Given the description of an element on the screen output the (x, y) to click on. 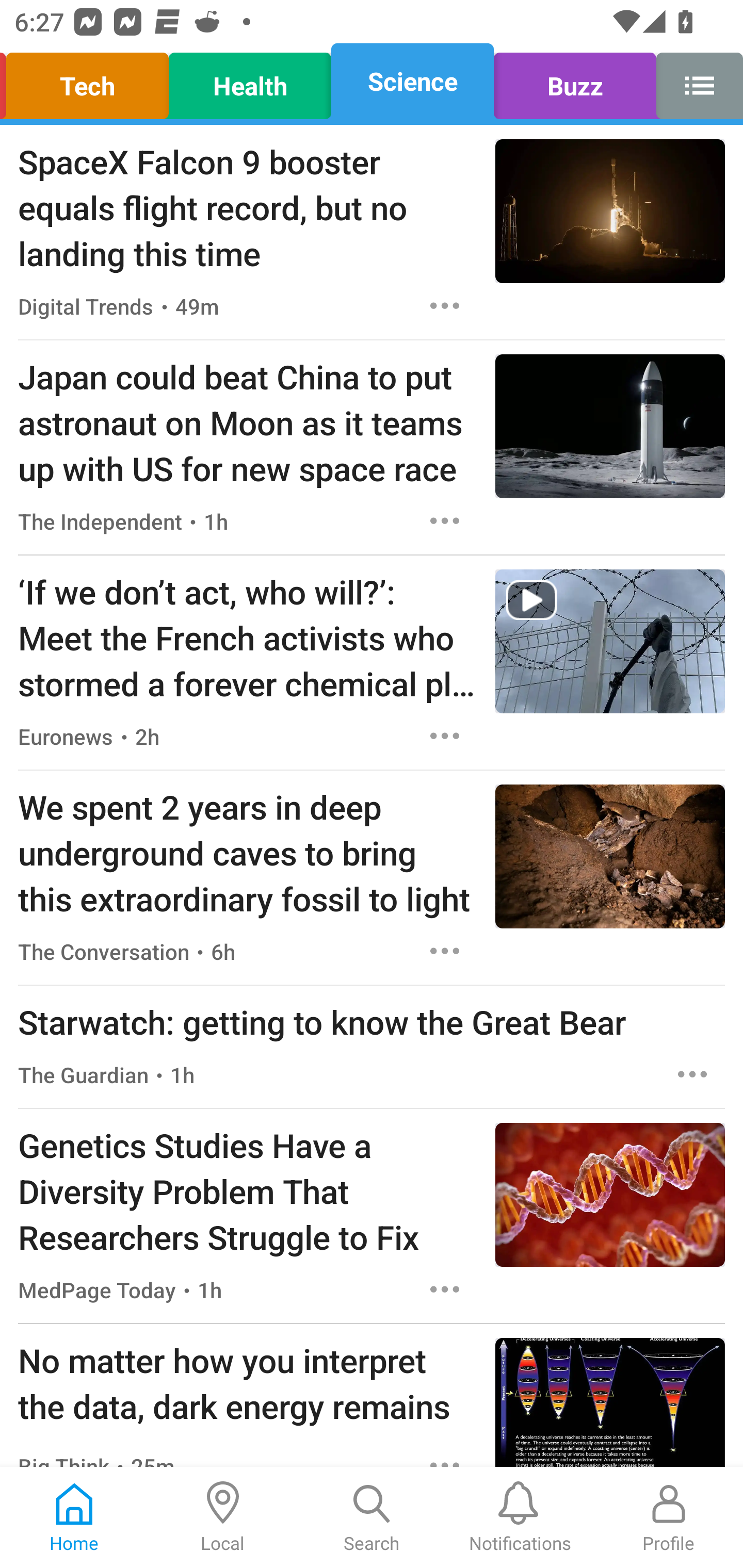
Tech (89, 81)
Health (249, 81)
Science (412, 81)
Buzz (574, 81)
 (694, 81)
Options (444, 305)
Options (444, 520)
Options (444, 736)
Options (444, 950)
Options (692, 1074)
Options (444, 1289)
Local (222, 1517)
Search (371, 1517)
Notifications (519, 1517)
Profile (668, 1517)
